Given the description of an element on the screen output the (x, y) to click on. 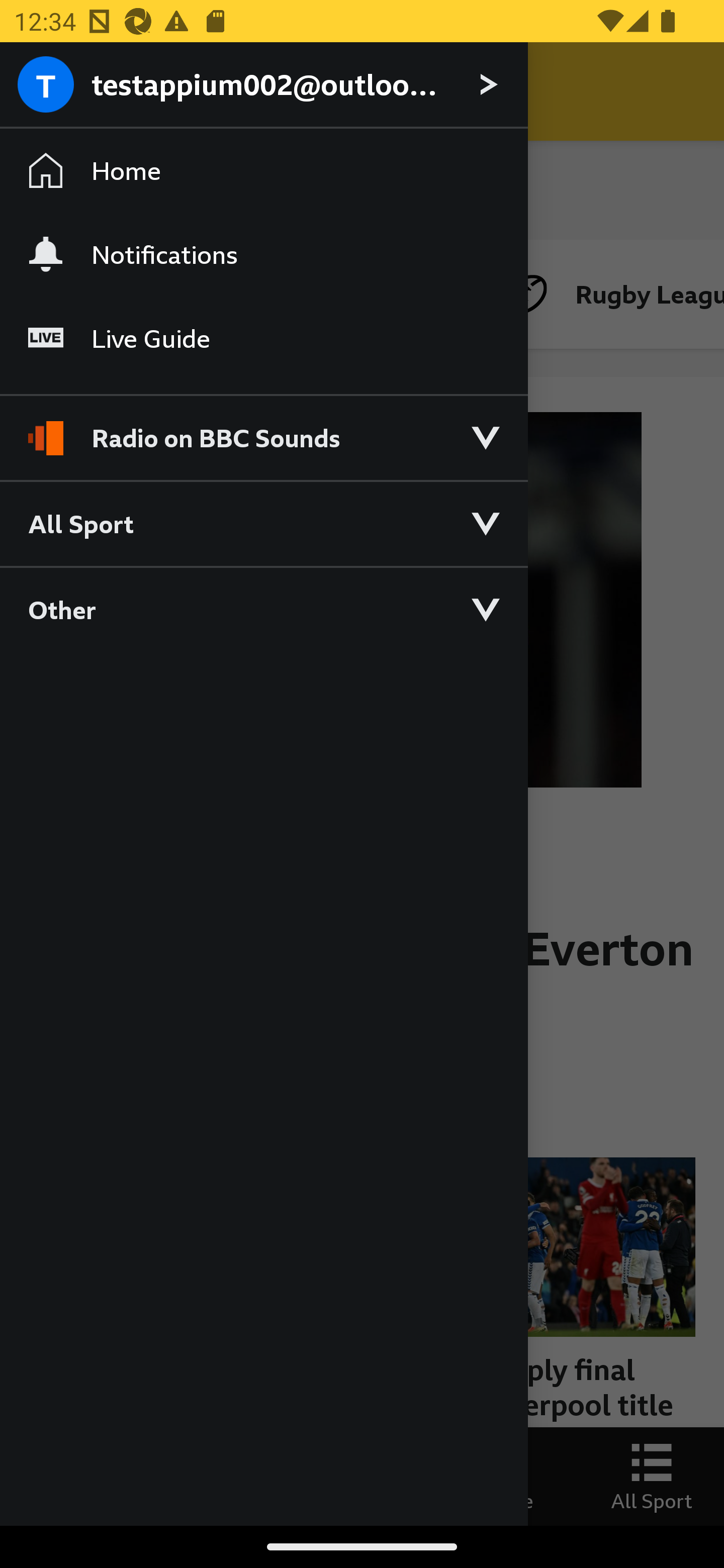
testappium002@outlook.com (263, 85)
Home (263, 170)
Notifications (263, 253)
Live Guide (263, 338)
Radio on BBC Sounds (263, 429)
All Sport (263, 522)
Other (263, 609)
